Given the description of an element on the screen output the (x, y) to click on. 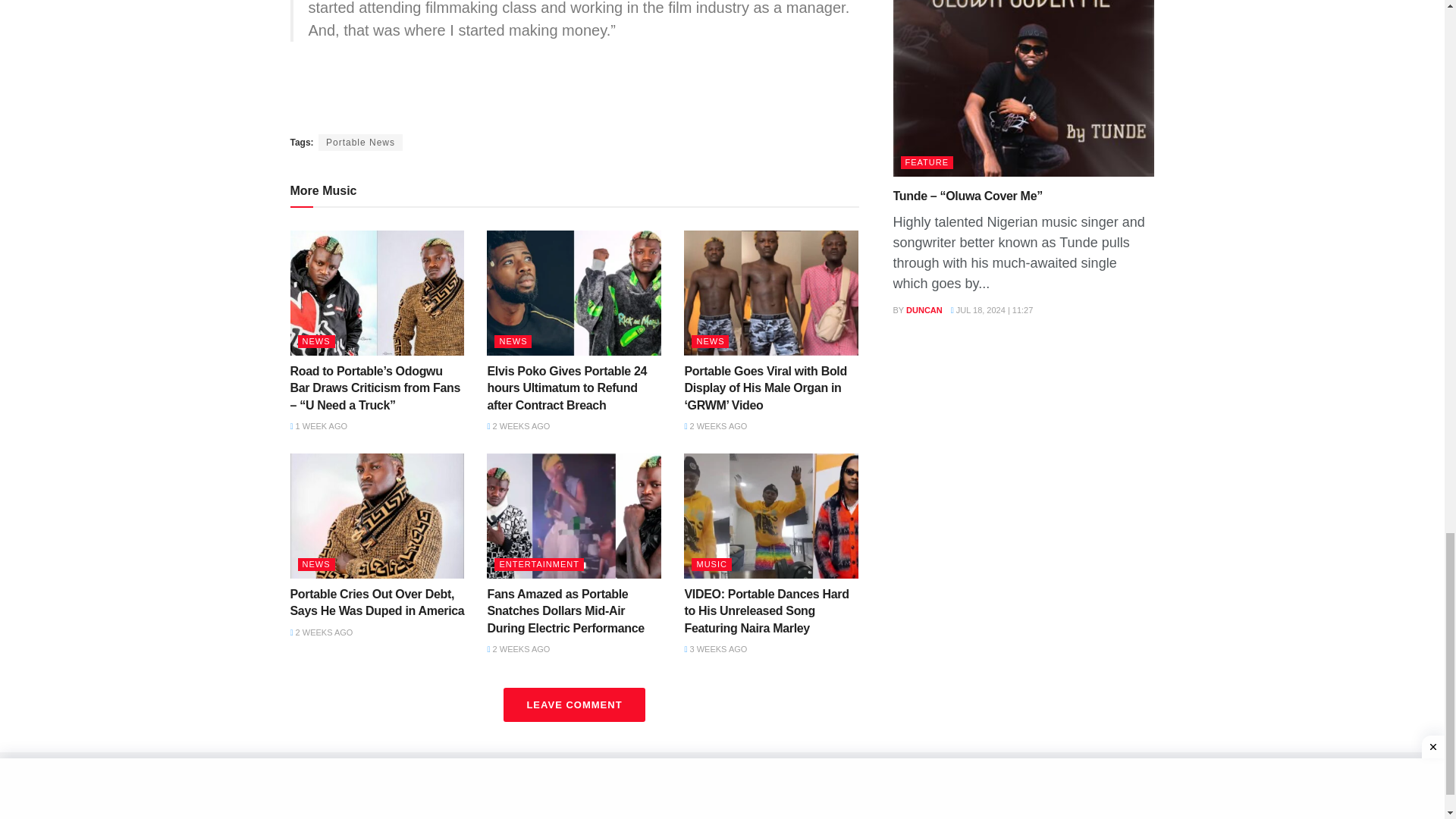
Artists (502, 814)
